Given the description of an element on the screen output the (x, y) to click on. 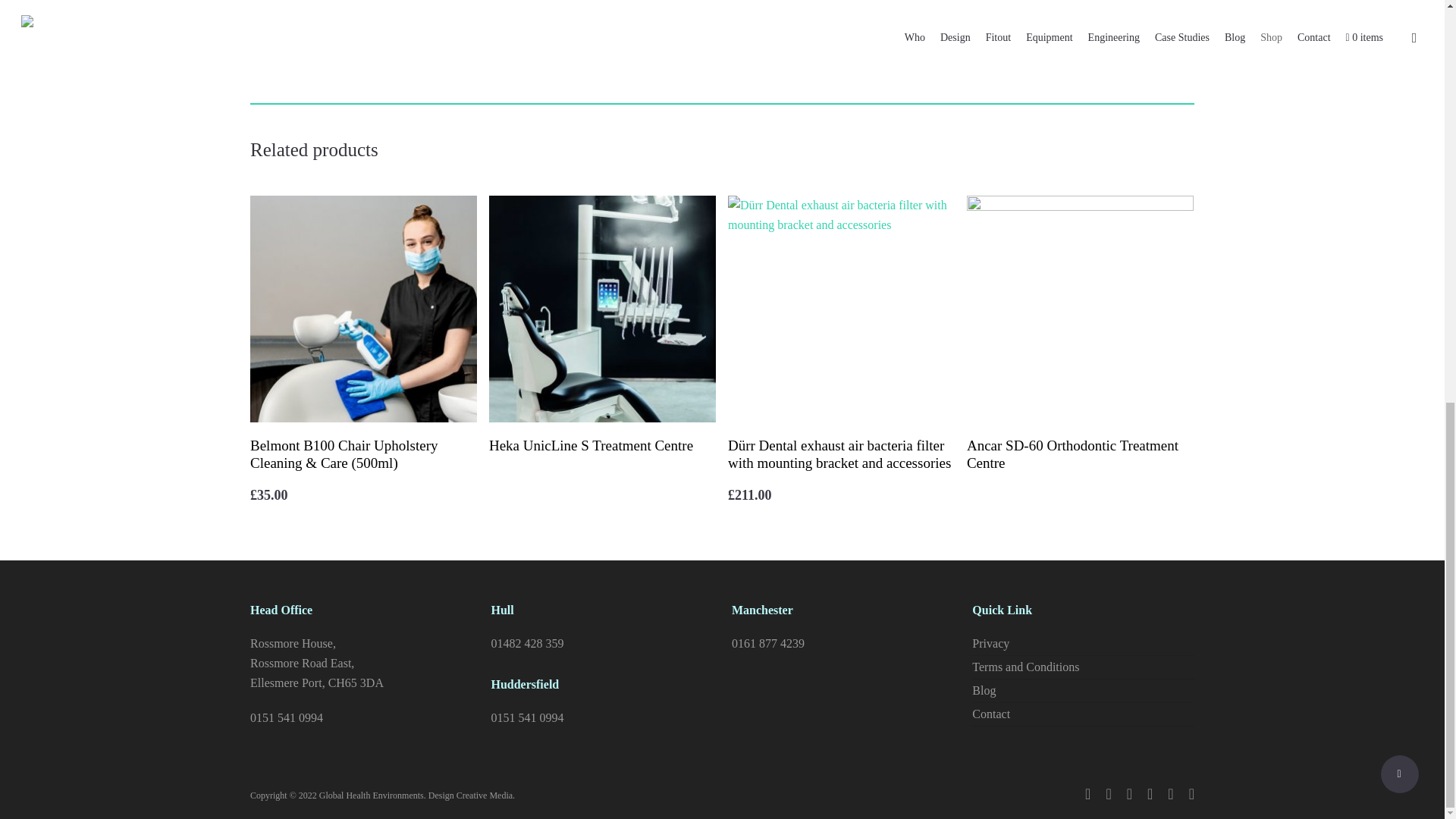
0151 541 0994 (286, 717)
